Given the description of an element on the screen output the (x, y) to click on. 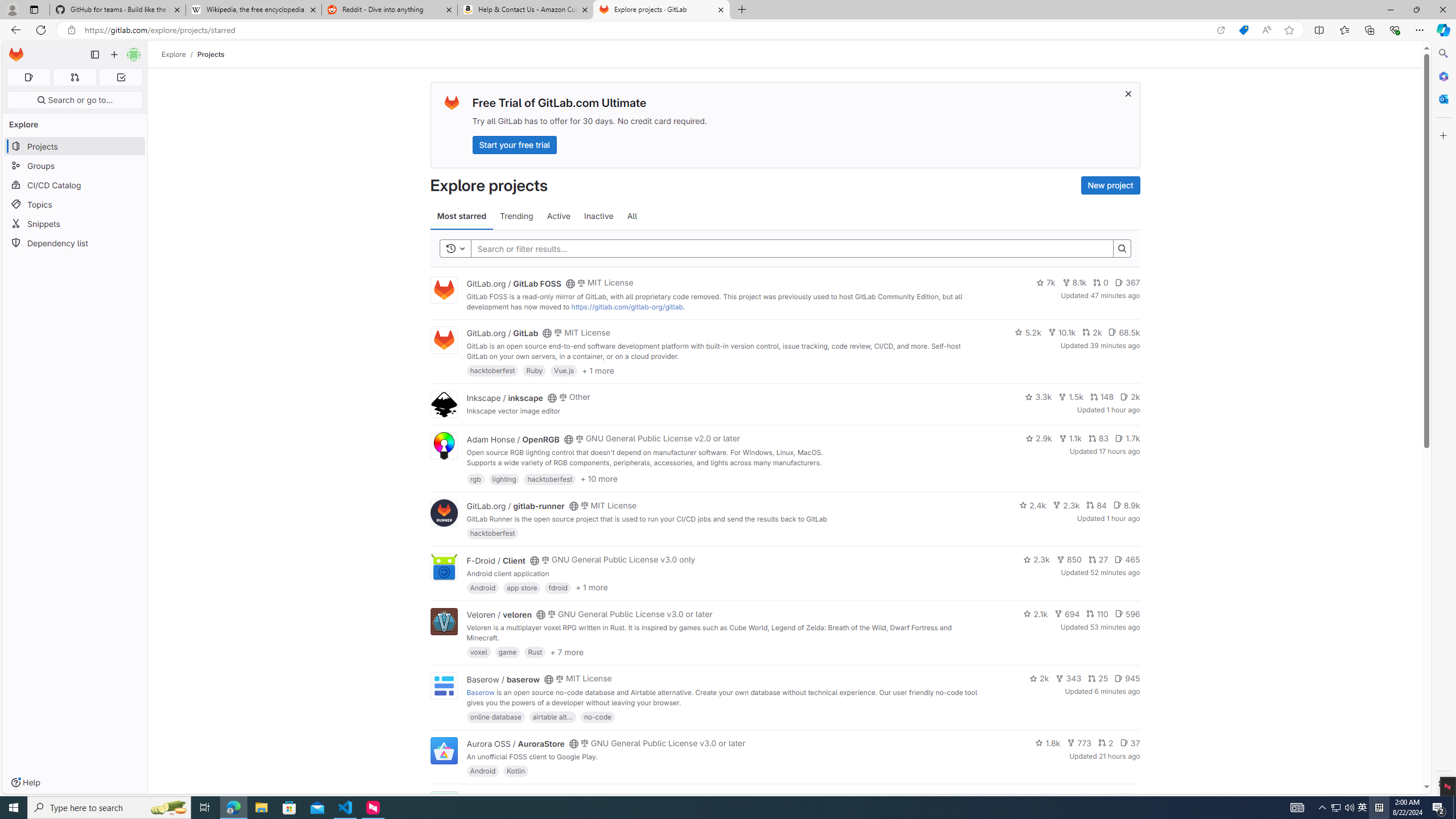
2 (1105, 742)
25 (1097, 678)
game (507, 651)
Class: s14 gl-mr-2 (1128, 796)
Reddit - Dive into anything (390, 9)
CI/CD Catalog (74, 185)
68.5k (1124, 331)
+ 1 more (591, 587)
Class: project (443, 750)
Toggle history (455, 248)
84 (1096, 504)
Vue.js (563, 370)
